Given the description of an element on the screen output the (x, y) to click on. 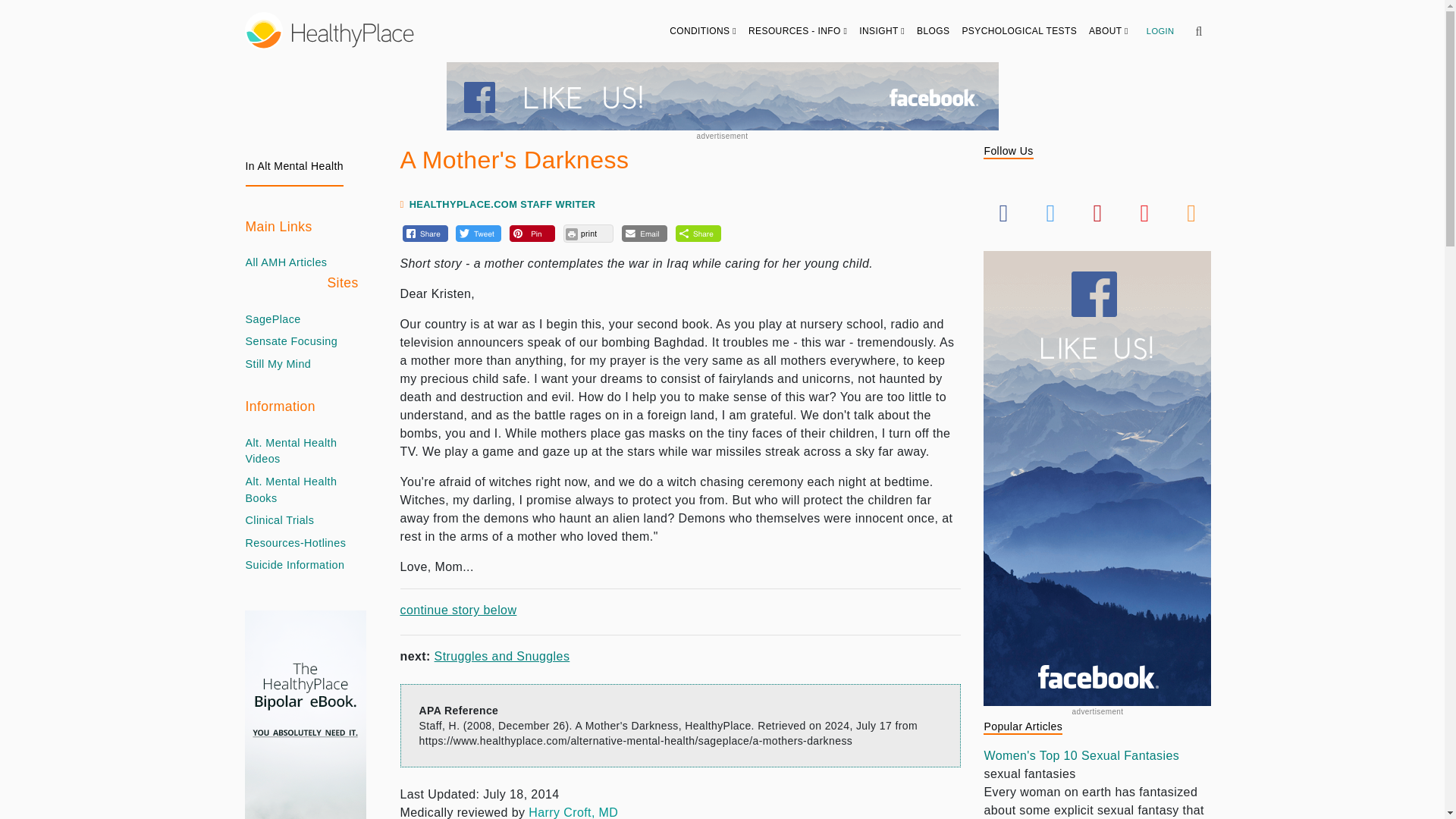
Join our Facebook community for mental health support (721, 96)
INSIGHT (882, 31)
CONDITIONS (702, 31)
RESOURCES - INFO (797, 31)
